Given the description of an element on the screen output the (x, y) to click on. 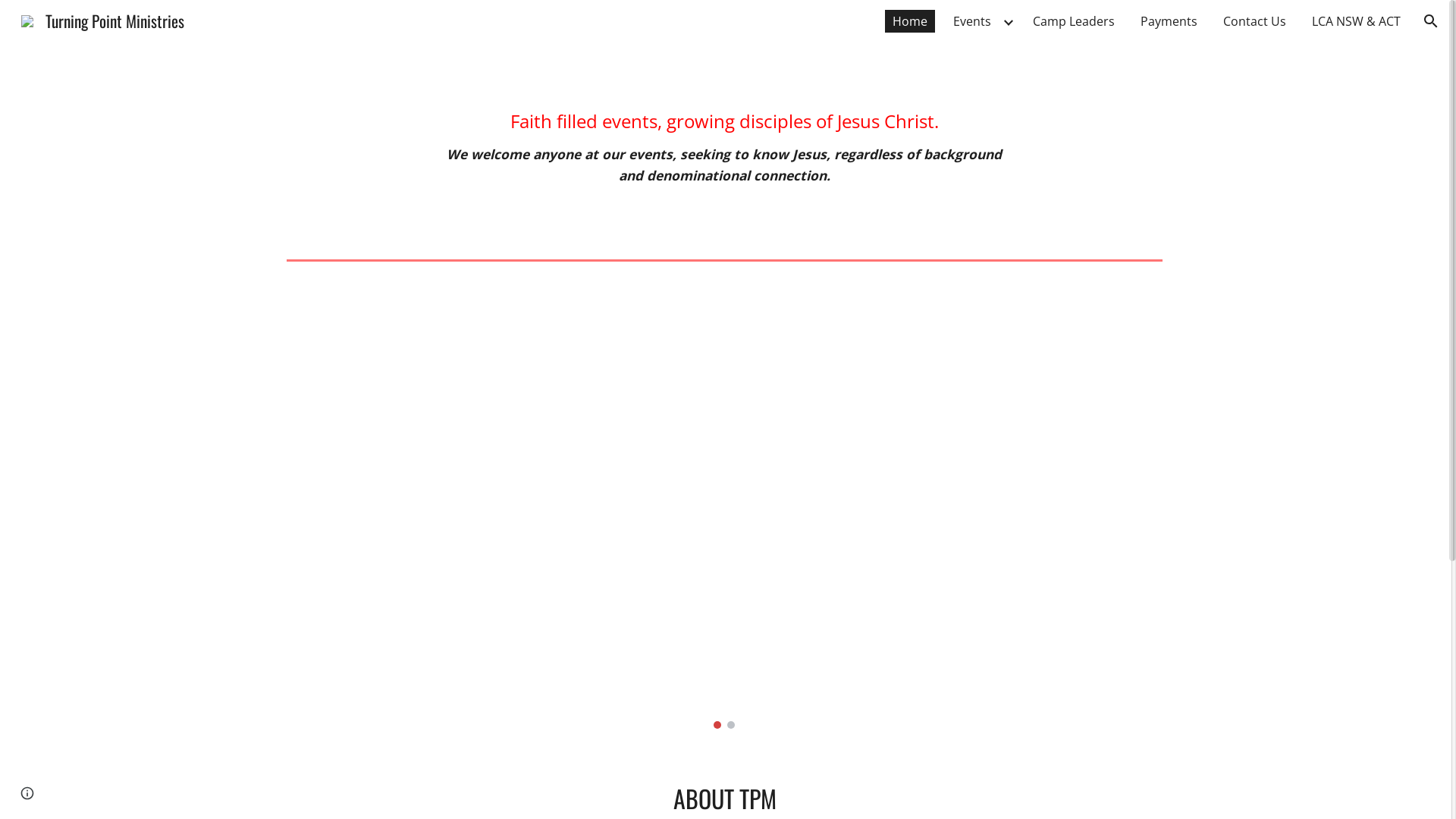
Home Element type: text (909, 20)
Camp Leaders Element type: text (1073, 20)
Turning Point Ministries Element type: text (102, 18)
Events Element type: text (971, 20)
Expand/Collapse Element type: hover (1007, 20)
Contact Us Element type: text (1254, 20)
Payments Element type: text (1168, 20)
LCA NSW & ACT Element type: text (1356, 20)
